Given the description of an element on the screen output the (x, y) to click on. 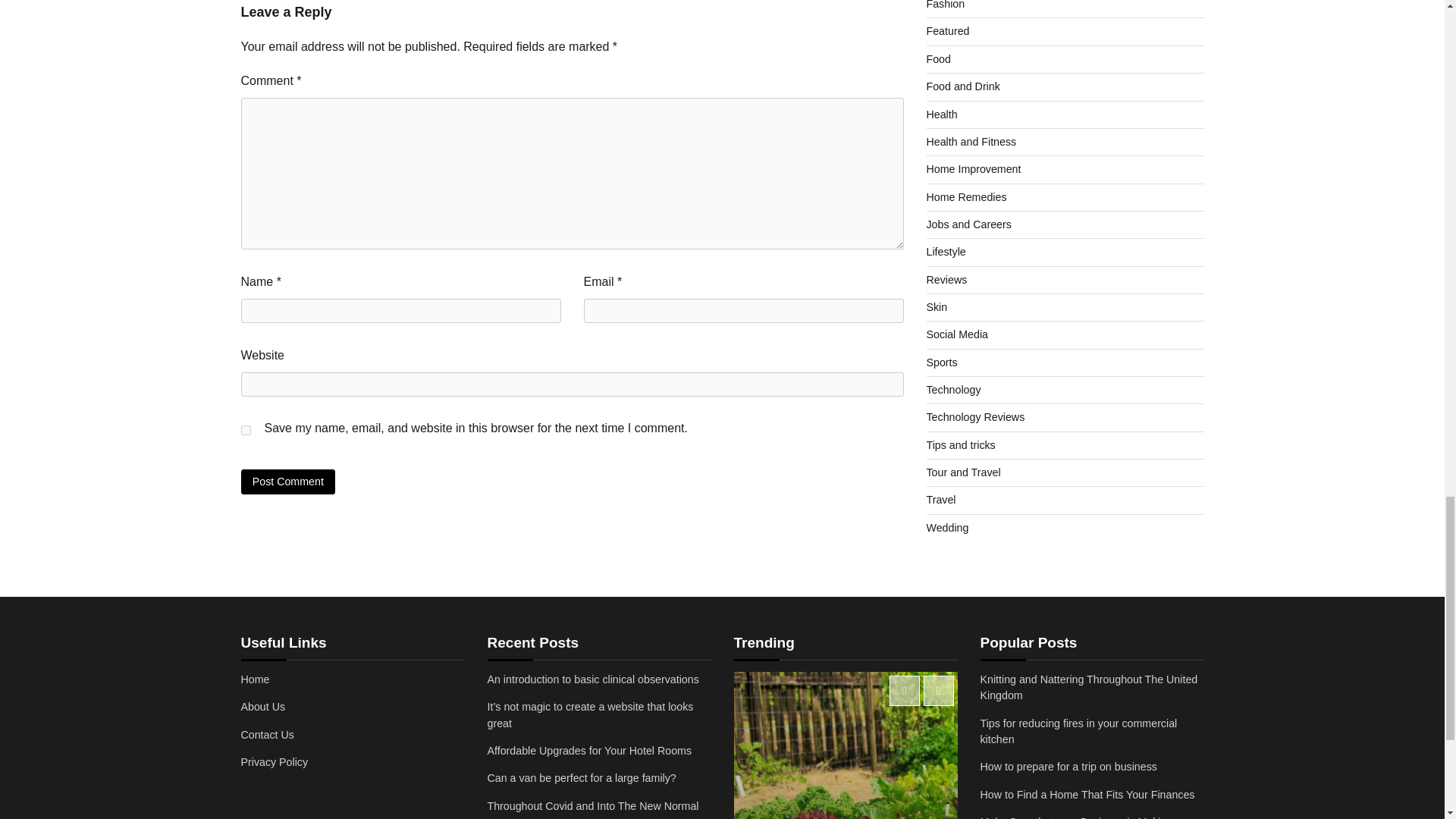
Post Comment (288, 481)
Post Comment (288, 481)
yes (245, 429)
